Given the description of an element on the screen output the (x, y) to click on. 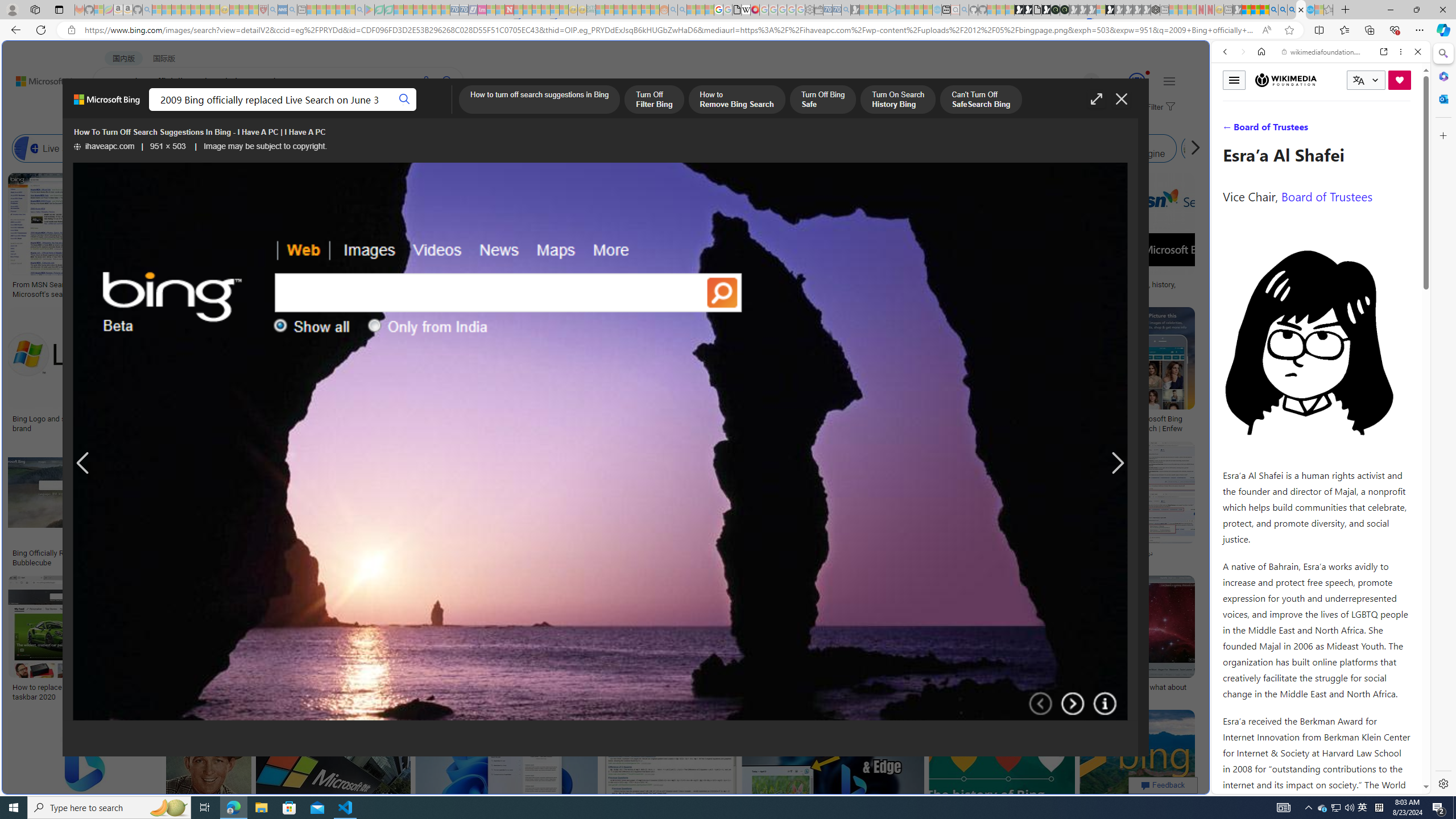
Settings - Sleeping (809, 9)
Https Bing Search Q MSN (1195, 148)
Dropdown Menu (451, 111)
Bing (2009) (RARE/FAKE) - YouTube (925, 552)
Microsoft Live LogoSave (421, 237)
wikimediafoundation.org (1323, 51)
Bing: rebranding search: idsgn (a design blog) (699, 289)
microsoft bing (1043, 419)
